Given the description of an element on the screen output the (x, y) to click on. 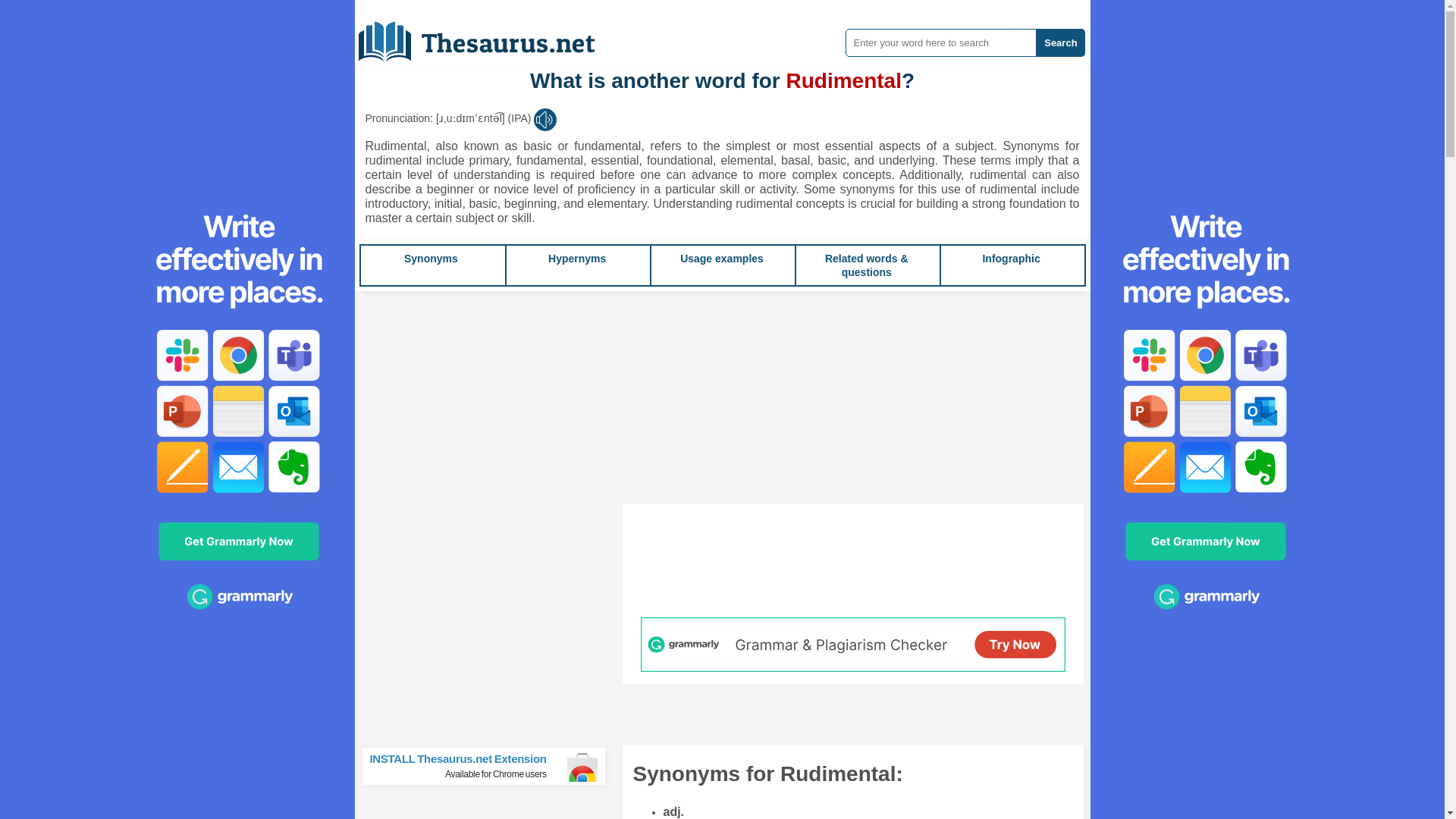
Usage examples (720, 258)
Thesaurus.net (487, 35)
Hypernyms (489, 765)
Search (576, 258)
Infographic (1060, 42)
Infographic (1010, 258)
Hypernyms (1010, 258)
Synonyms (576, 258)
Synonyms (431, 258)
Usage examples (431, 258)
